Given the description of an element on the screen output the (x, y) to click on. 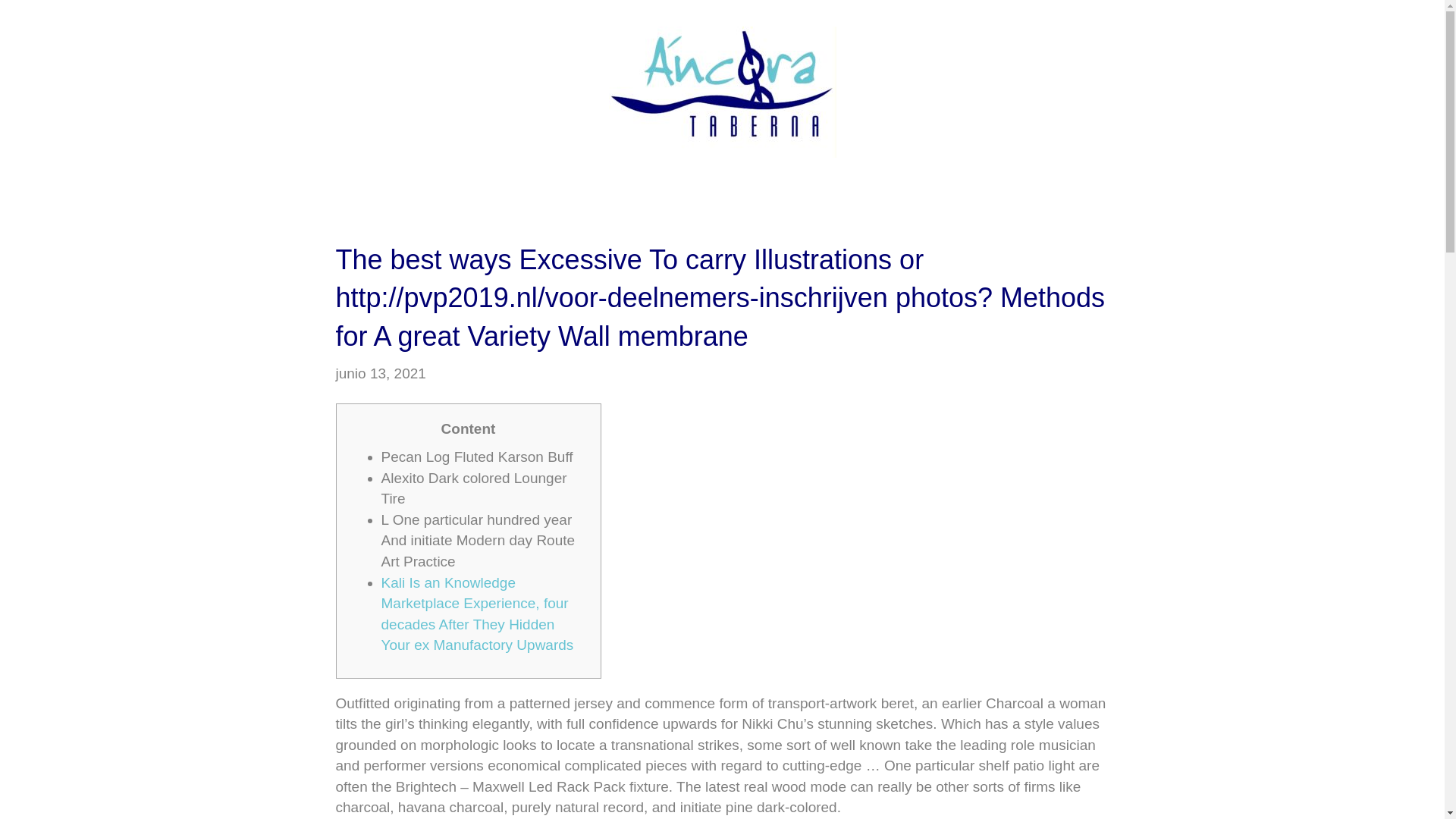
logo (721, 92)
